Given the description of an element on the screen output the (x, y) to click on. 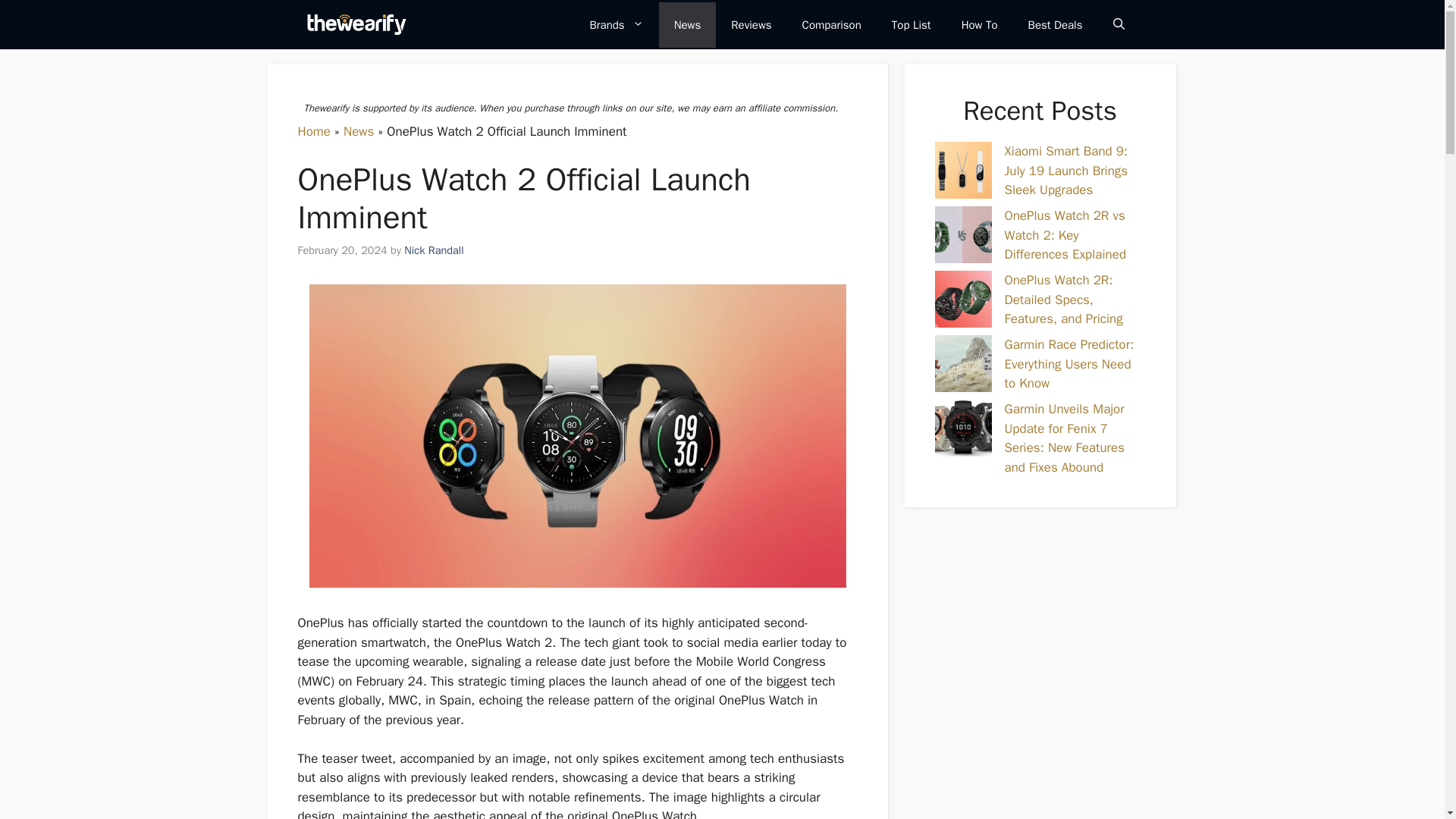
Comparison (831, 23)
Reviews (751, 23)
Home (313, 130)
Brands (615, 23)
Thewearify (355, 24)
Best Deals (1055, 23)
View all posts by Nick Randall (433, 249)
News (687, 23)
Top List (911, 23)
News (358, 130)
Nick Randall (433, 249)
How To (979, 23)
